Given the description of an element on the screen output the (x, y) to click on. 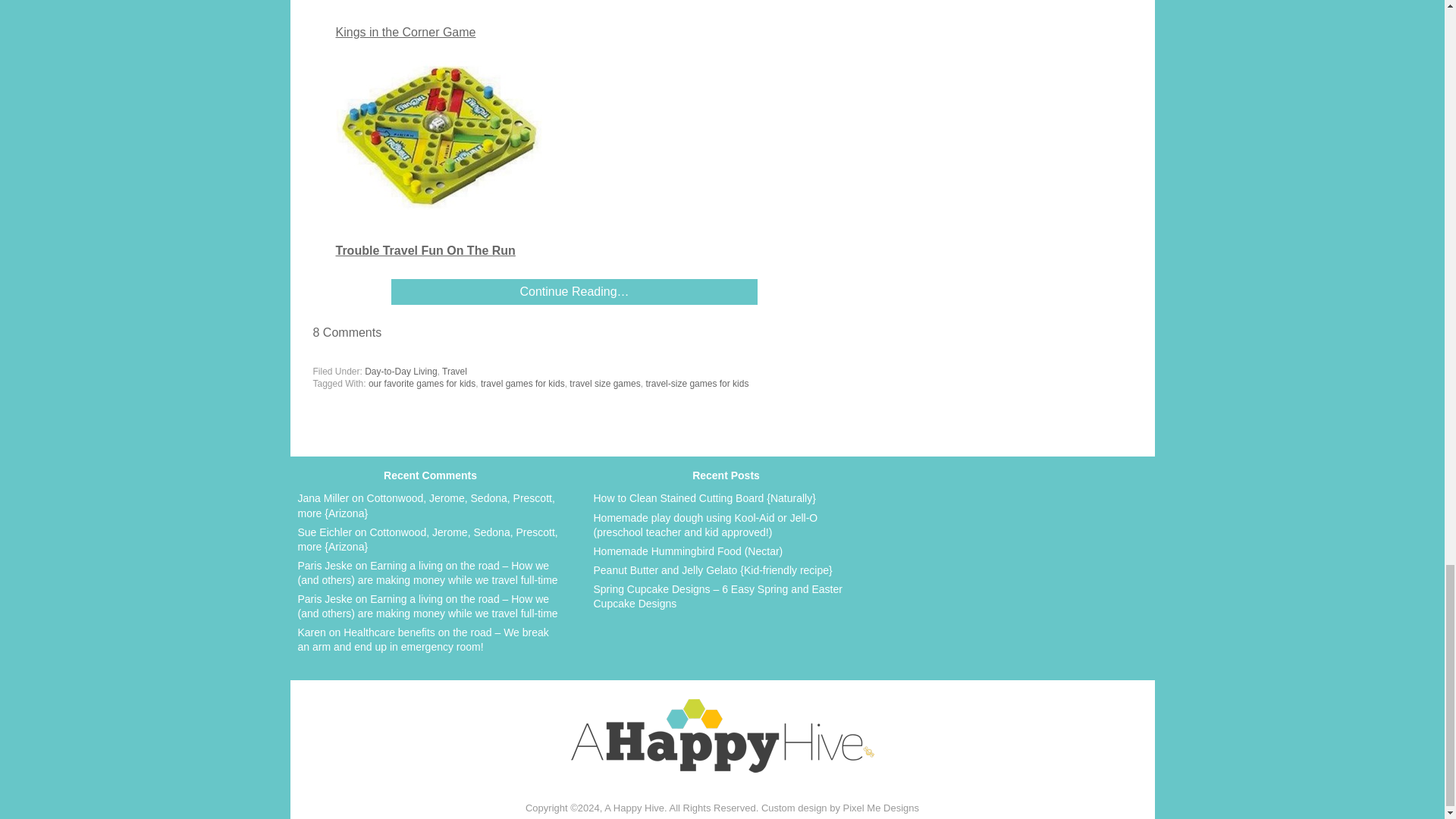
Travel (454, 371)
8 Comments (347, 332)
travel games for kids (522, 383)
our favorite games for kids (422, 383)
Kings in the Corner Game (405, 31)
Trouble Travel Fun On The Run (424, 250)
Day-to-Day Living (400, 371)
